Given the description of an element on the screen output the (x, y) to click on. 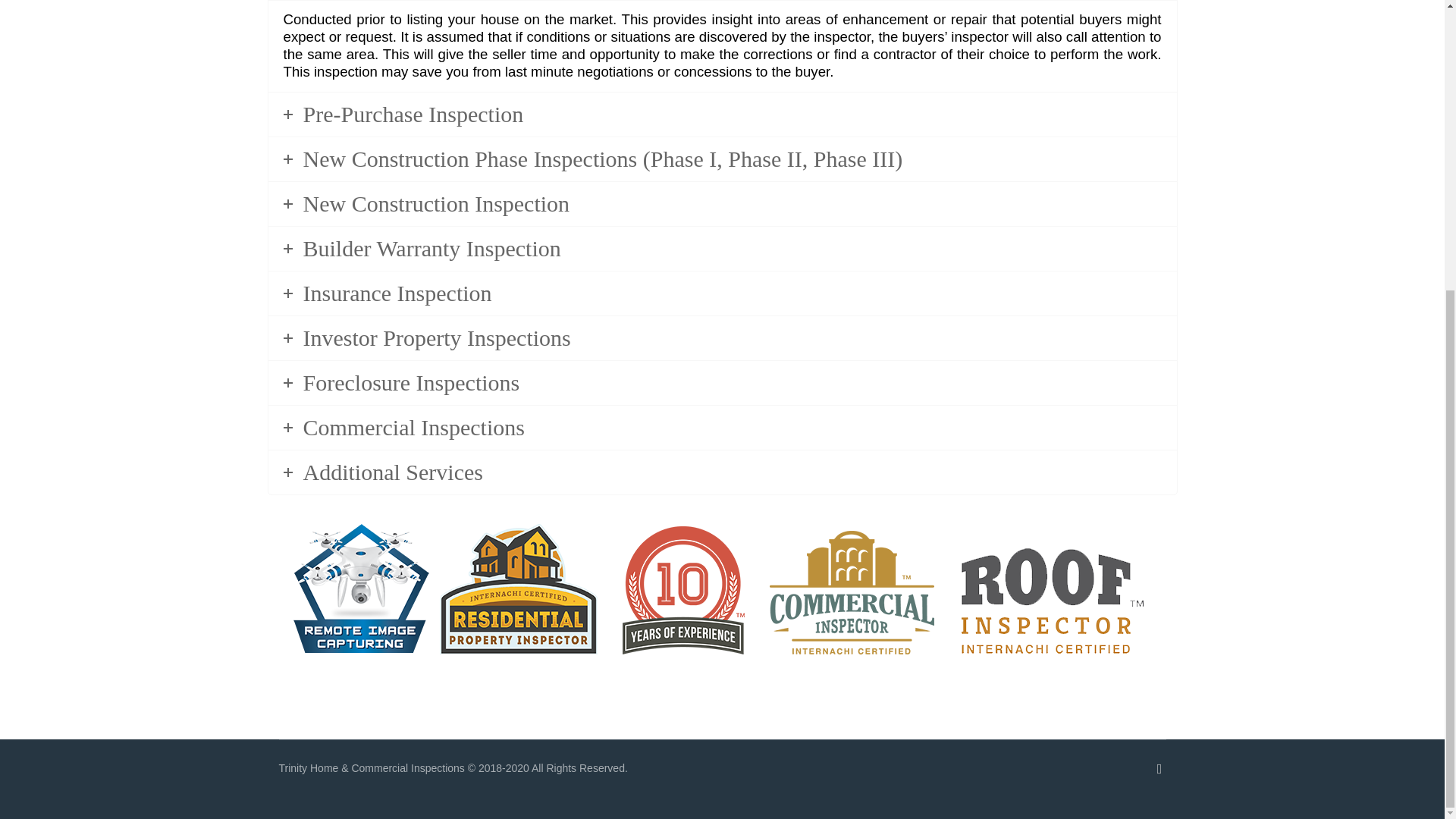
Foreclosure Inspections (721, 382)
Investor Property Inspections (721, 338)
Additional Services (721, 472)
Pre-Purchase Inspection (721, 114)
Insurance Inspection (721, 293)
Builder Warranty Inspection (721, 248)
New Construction Inspection (721, 203)
Commercial Inspections (721, 427)
